Given the description of an element on the screen output the (x, y) to click on. 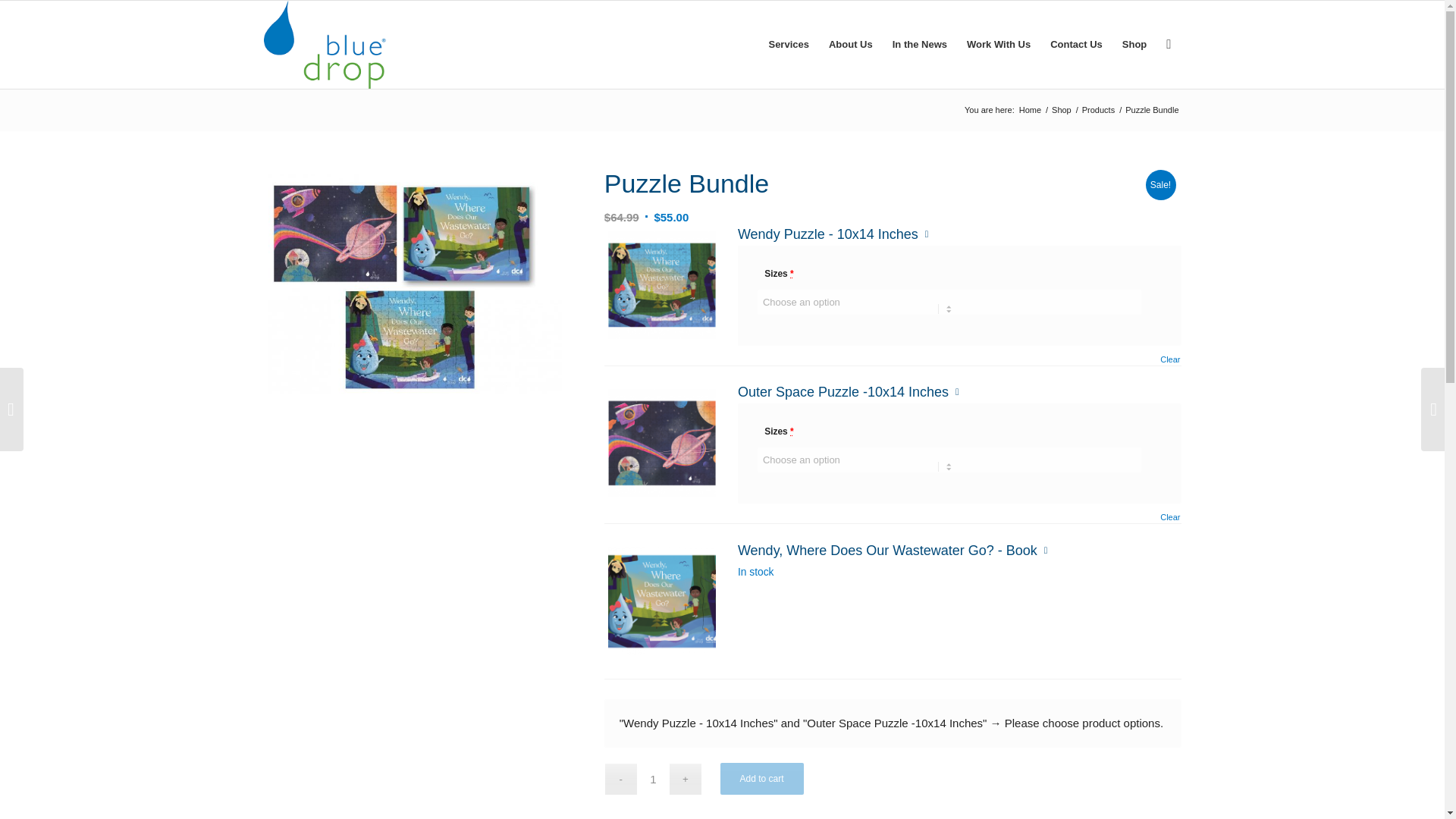
- (620, 778)
Shop (1134, 44)
2291905a0f6099a28c5d1ab27e7ce6f0.png (662, 442)
Blue Drop (1029, 110)
Shop (1061, 110)
6710b30a826e8636dcef7ef6a4fb4c71.png (662, 284)
Contact Us (1076, 44)
Work With Us (998, 44)
Add to cart (761, 778)
Products (1098, 110)
Shop (1061, 110)
Clear (1169, 359)
Clear (1169, 517)
